Given the description of an element on the screen output the (x, y) to click on. 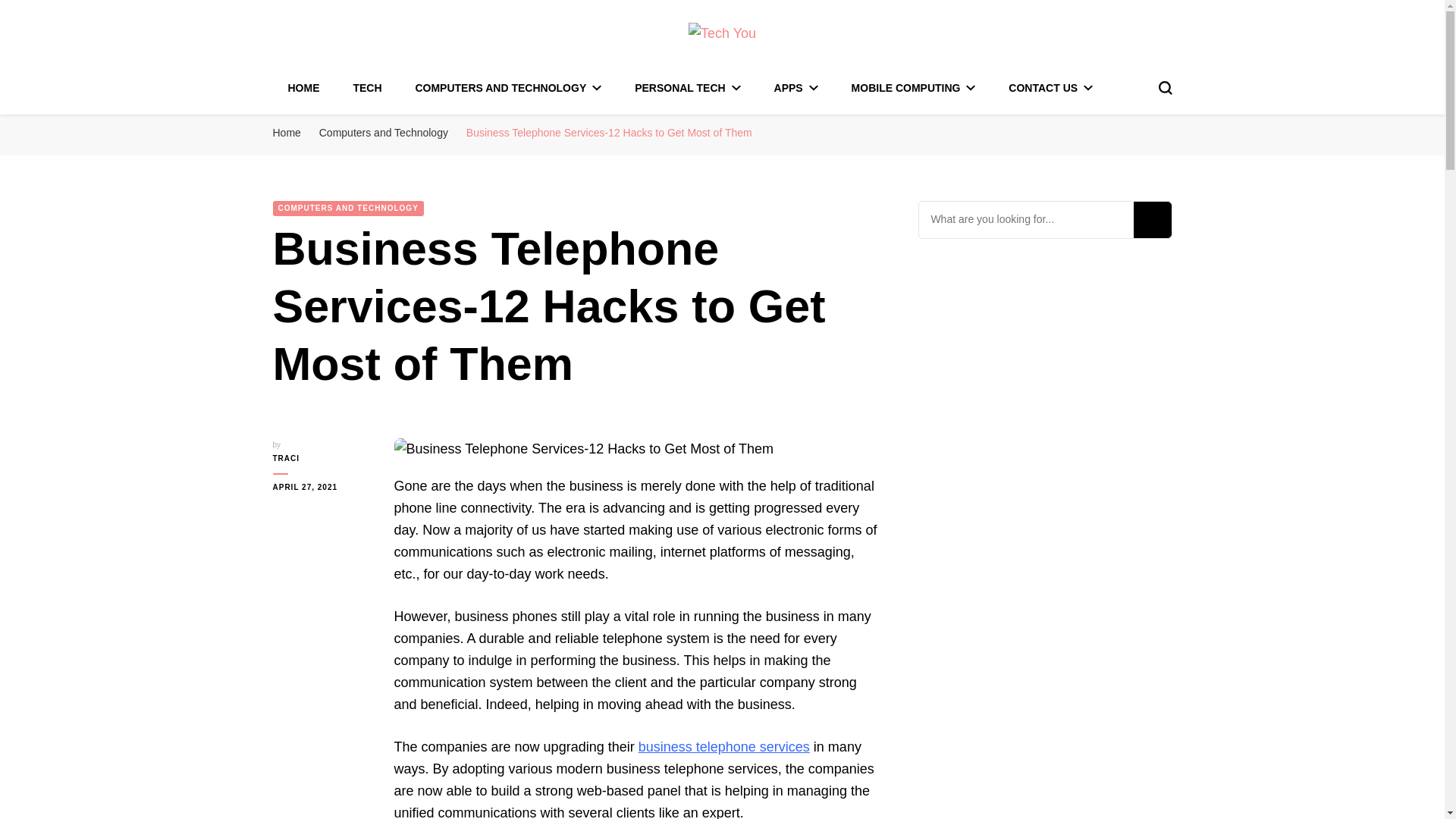
COMPUTERS AND TECHNOLOGY (507, 87)
HOME (304, 87)
Business Telephone Services-12 Hacks to Get Most of Them (584, 449)
Search (1151, 219)
Tech You (352, 68)
Search (1151, 219)
TECH (366, 87)
